Given the description of an element on the screen output the (x, y) to click on. 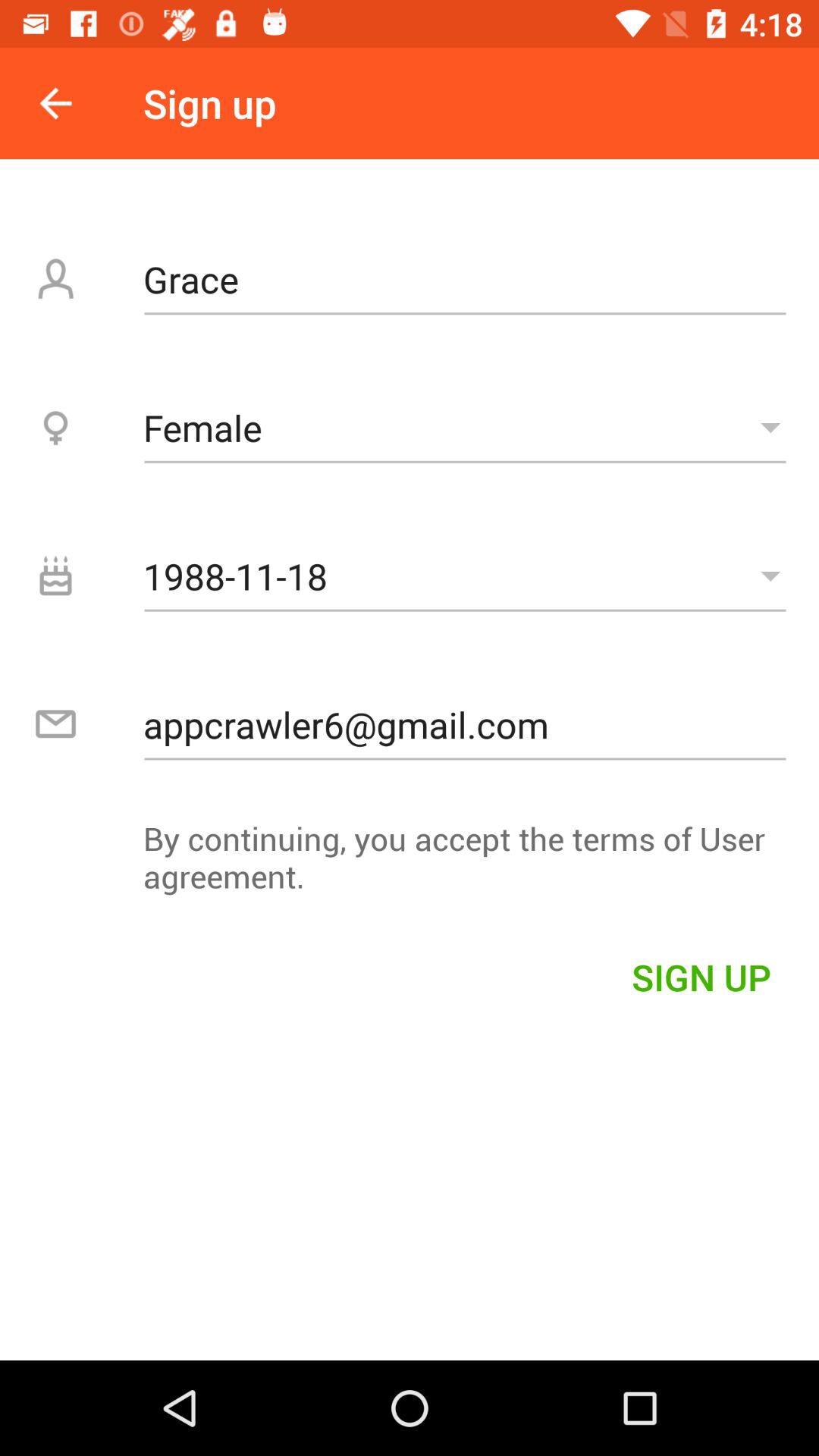
press the item next to the sign up item (55, 103)
